Given the description of an element on the screen output the (x, y) to click on. 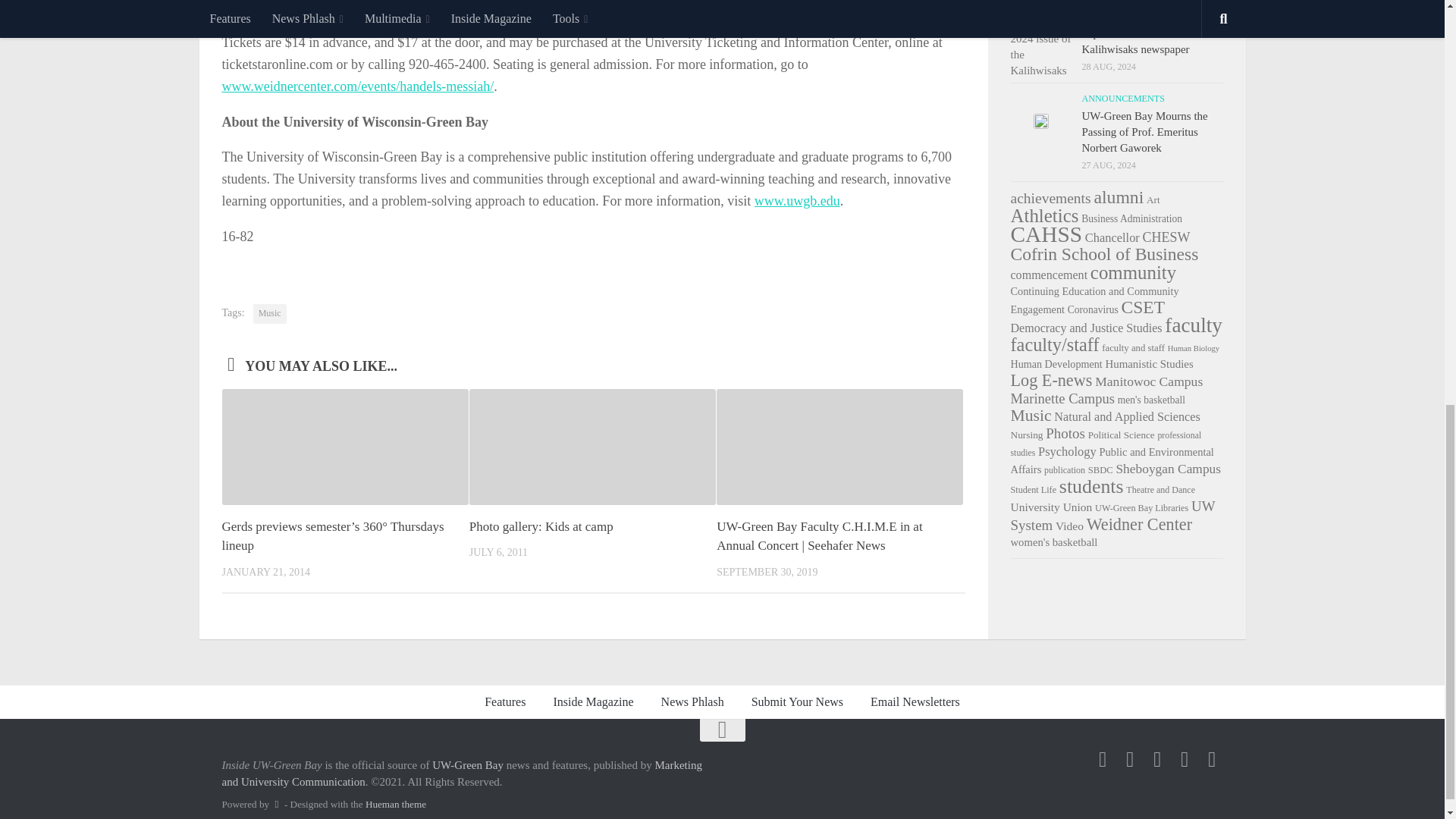
www.uwgb.edu (797, 200)
Music (269, 313)
Photo gallery: Kids at camp (540, 526)
